Given the description of an element on the screen output the (x, y) to click on. 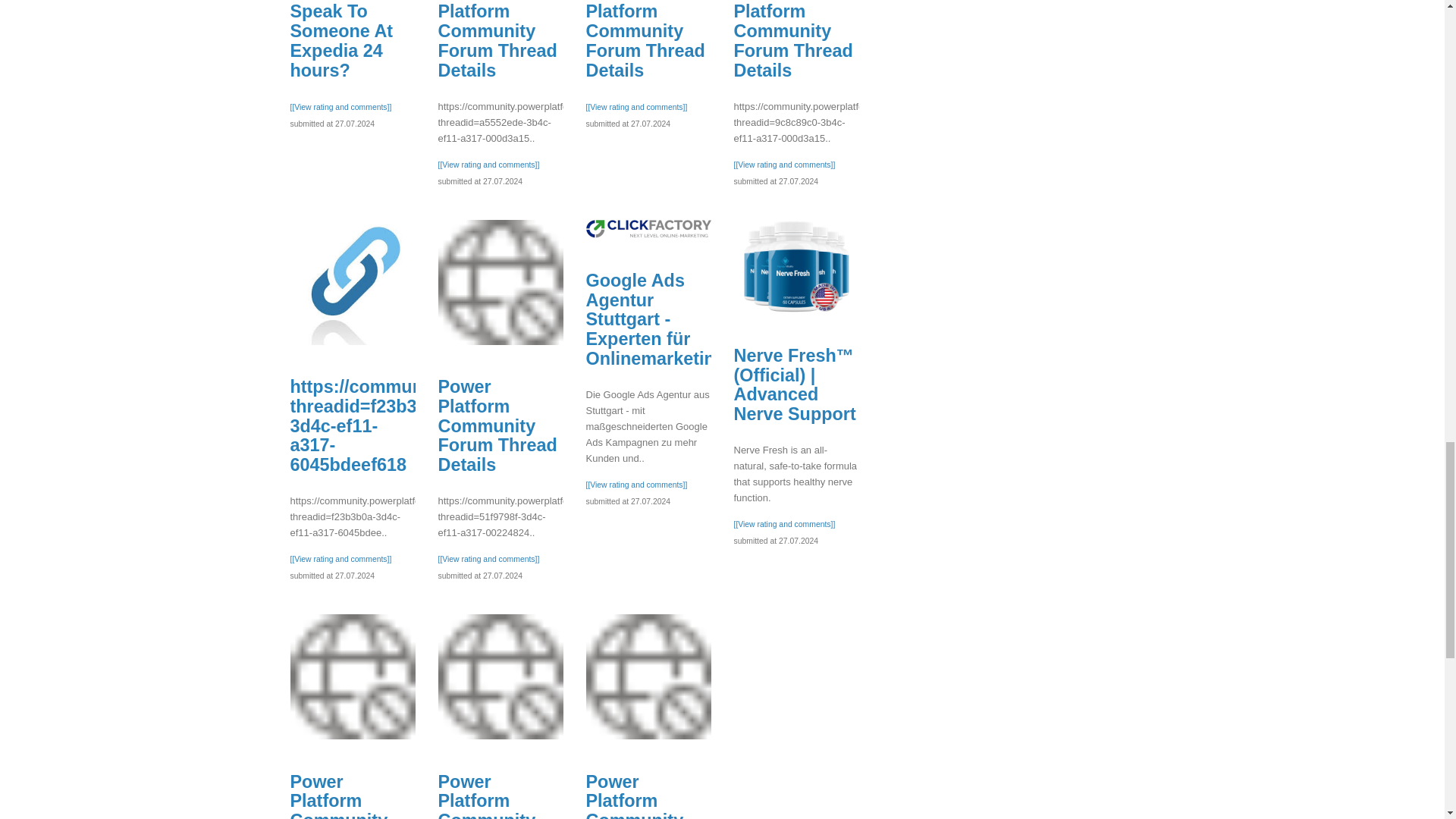
Power Platform Community Forum Thread Details (644, 40)
Power Platform Community Forum Thread Details (793, 40)
			Power Platform Community Forum Thread Details		 (647, 676)
			Power Platform Community Forum Thread Details		 (500, 676)
			Power Platform Community Forum Thread Details		 (500, 282)
Power Platform Community Forum Thread Details		 (351, 676)
Power Platform Community Forum Thread Details (497, 40)
How Do I Speak To Someone At Expedia 24 hours? (341, 40)
